Given the description of an element on the screen output the (x, y) to click on. 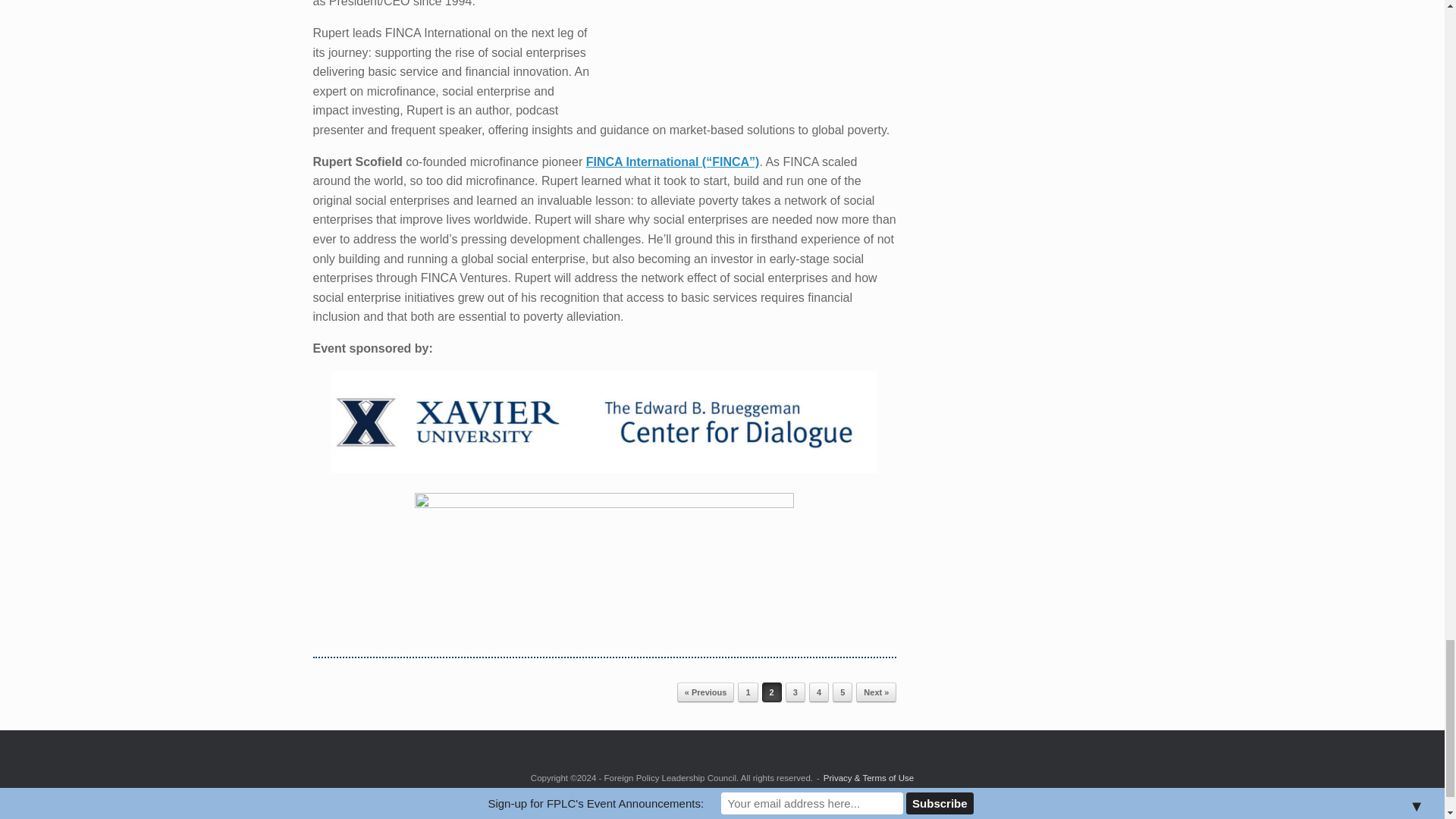
1 (747, 691)
5 (841, 691)
3 (795, 691)
4 (818, 691)
